Given the description of an element on the screen output the (x, y) to click on. 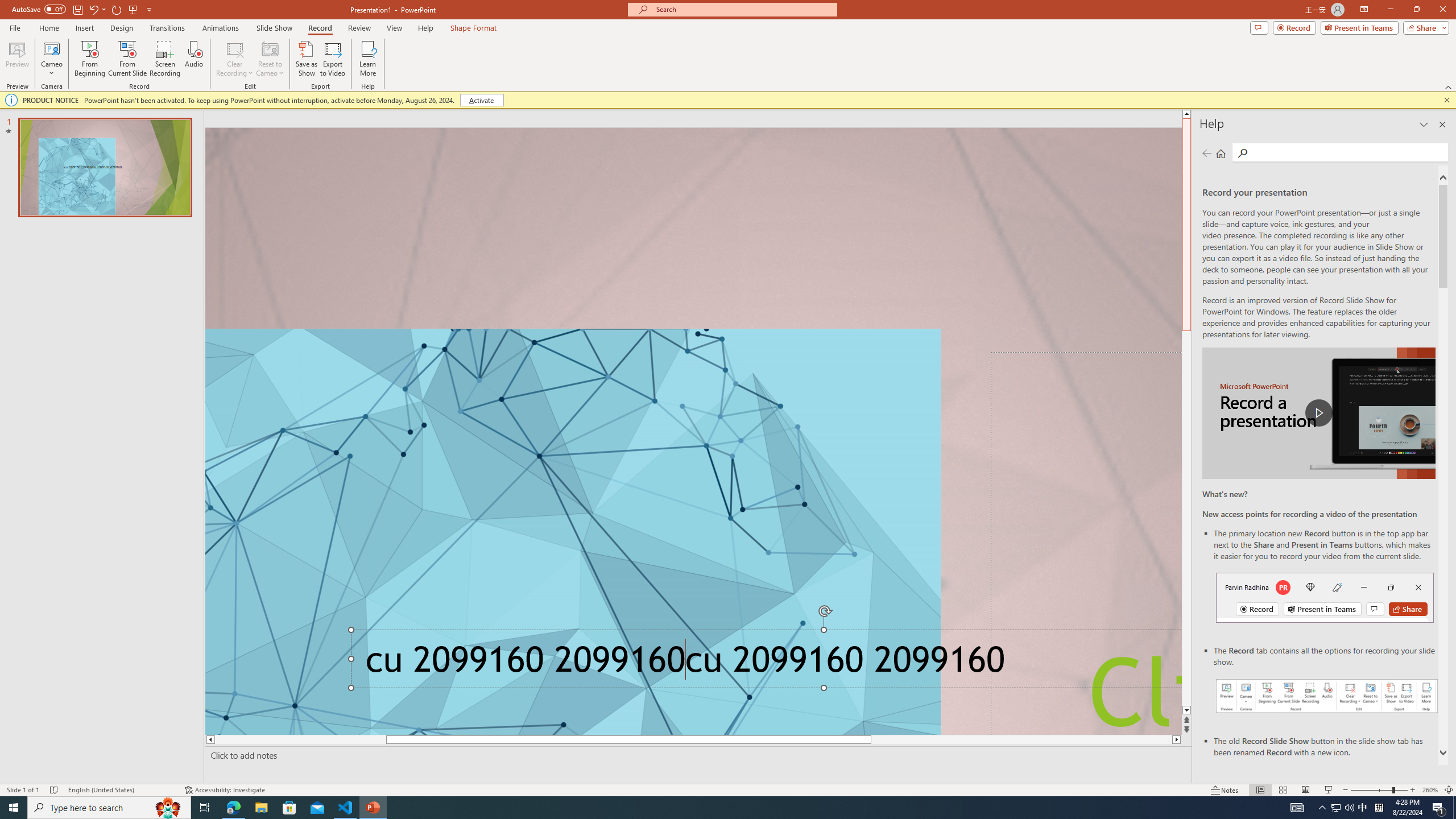
TextBox 61 (762, 663)
play Record a Presentation (1318, 412)
